Given the description of an element on the screen output the (x, y) to click on. 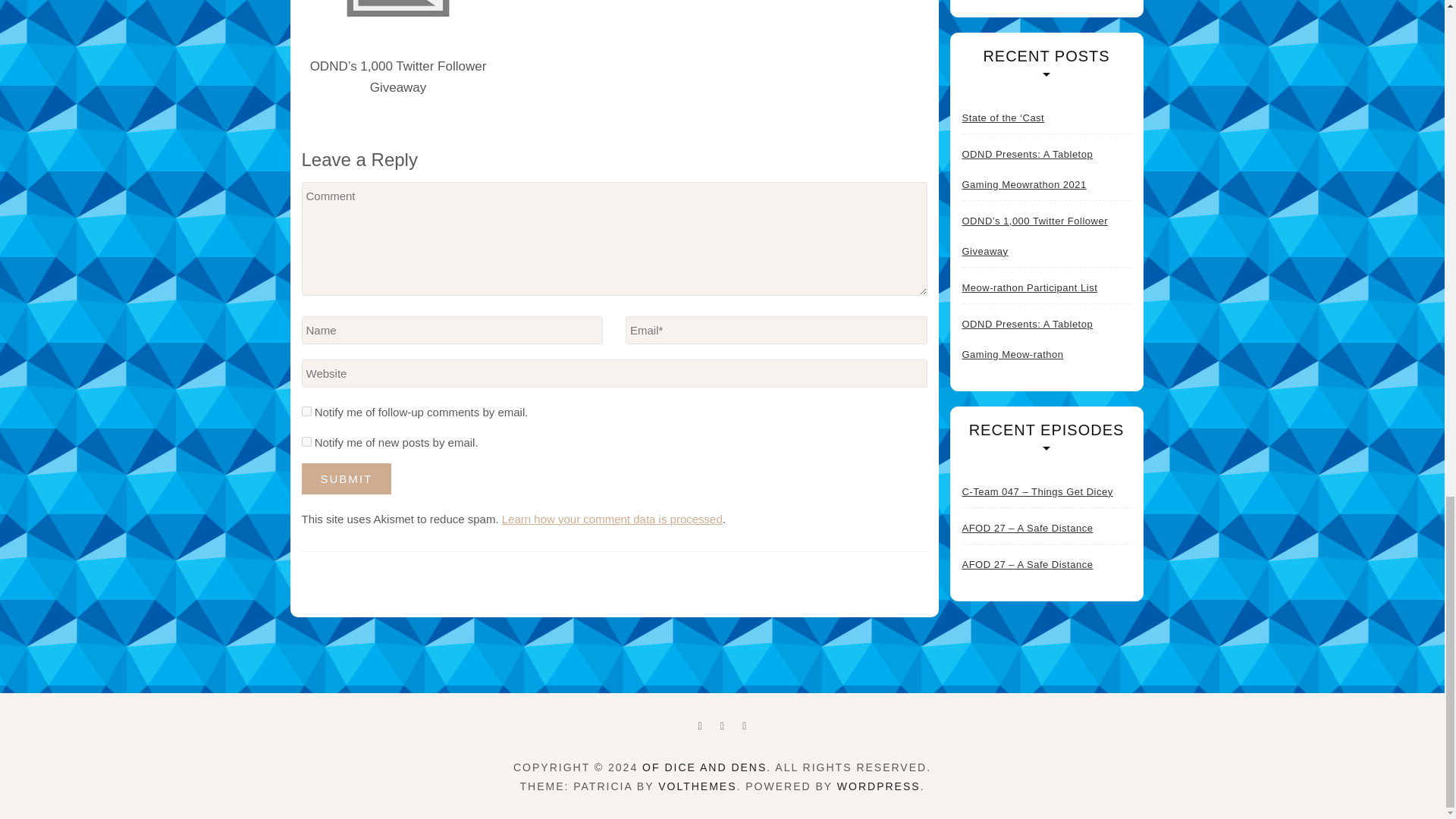
subscribe (306, 411)
Submit (346, 478)
subscribe (306, 441)
